Given the description of an element on the screen output the (x, y) to click on. 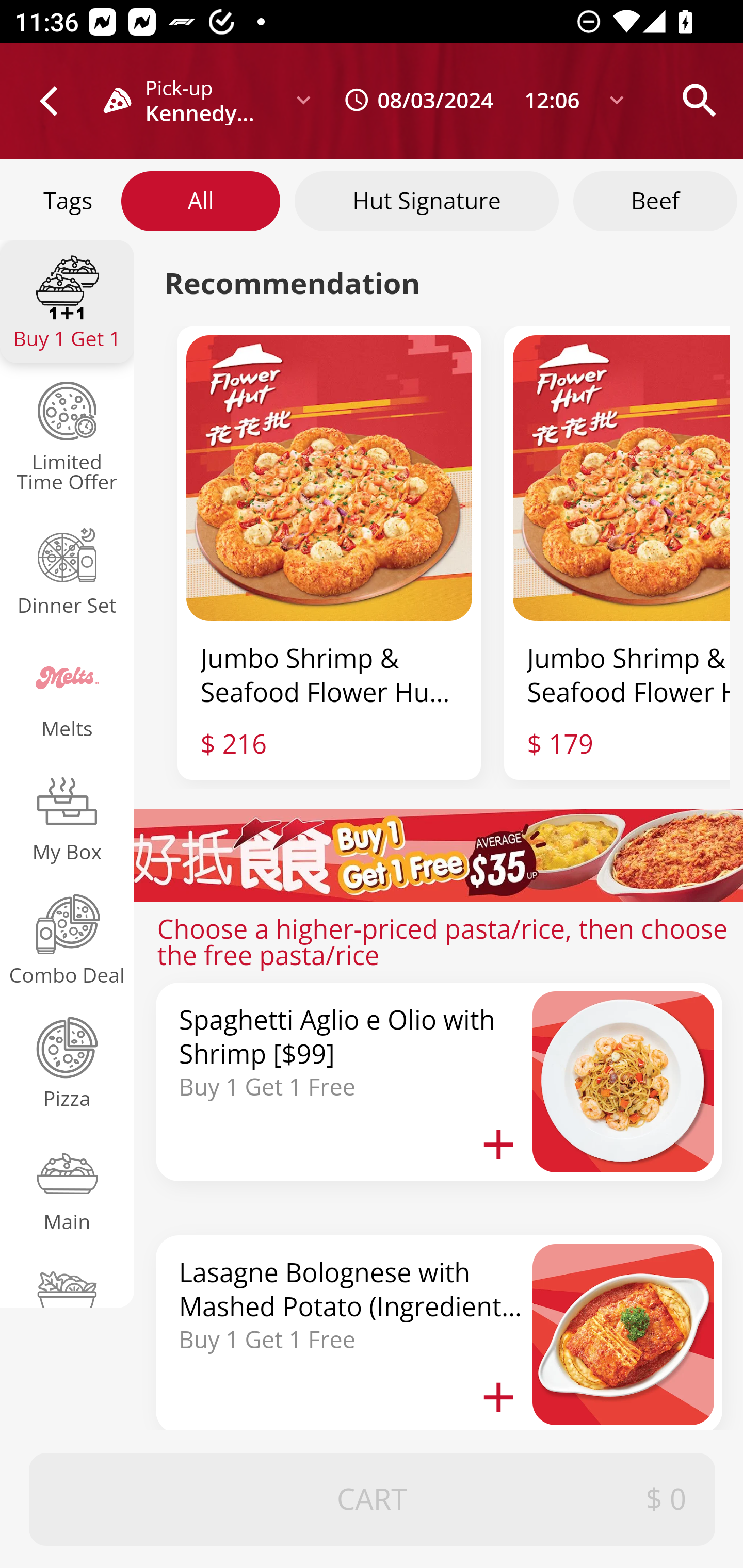
Pick-up Kennedy Town, Sai Wan expand_more (215, 100)
arrow_back_ios (58, 100)
search (699, 99)
schedule 08/03/2024 12:06 expand_more (479, 100)
All (200, 200)
Hut Signature (426, 200)
Beef (655, 200)
Buy 1 Get 1 (67, 301)
Limited Time Offer (67, 434)
Dinner Set (67, 567)
Melts (67, 691)
My Box (67, 815)
Combo Deal (67, 937)
Pizza (67, 1060)
add (498, 1142)
Main (67, 1183)
add (498, 1396)
CART $ 0 (372, 1499)
